Given the description of an element on the screen output the (x, y) to click on. 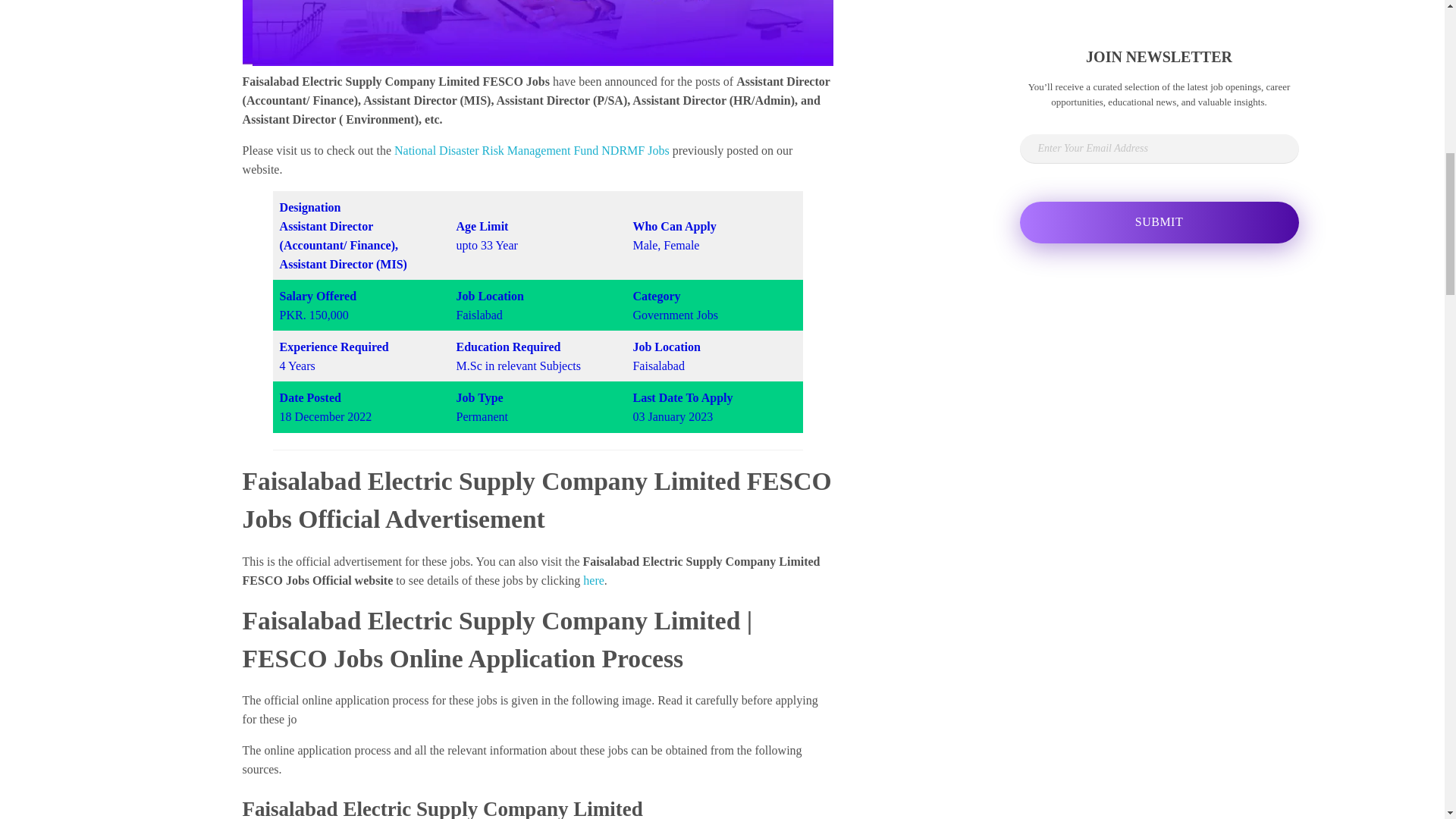
SUBMIT (1158, 222)
here (593, 580)
National Disaster Risk Management Fund NDRMF Jobs (531, 150)
SUBMIT (1158, 222)
